Given the description of an element on the screen output the (x, y) to click on. 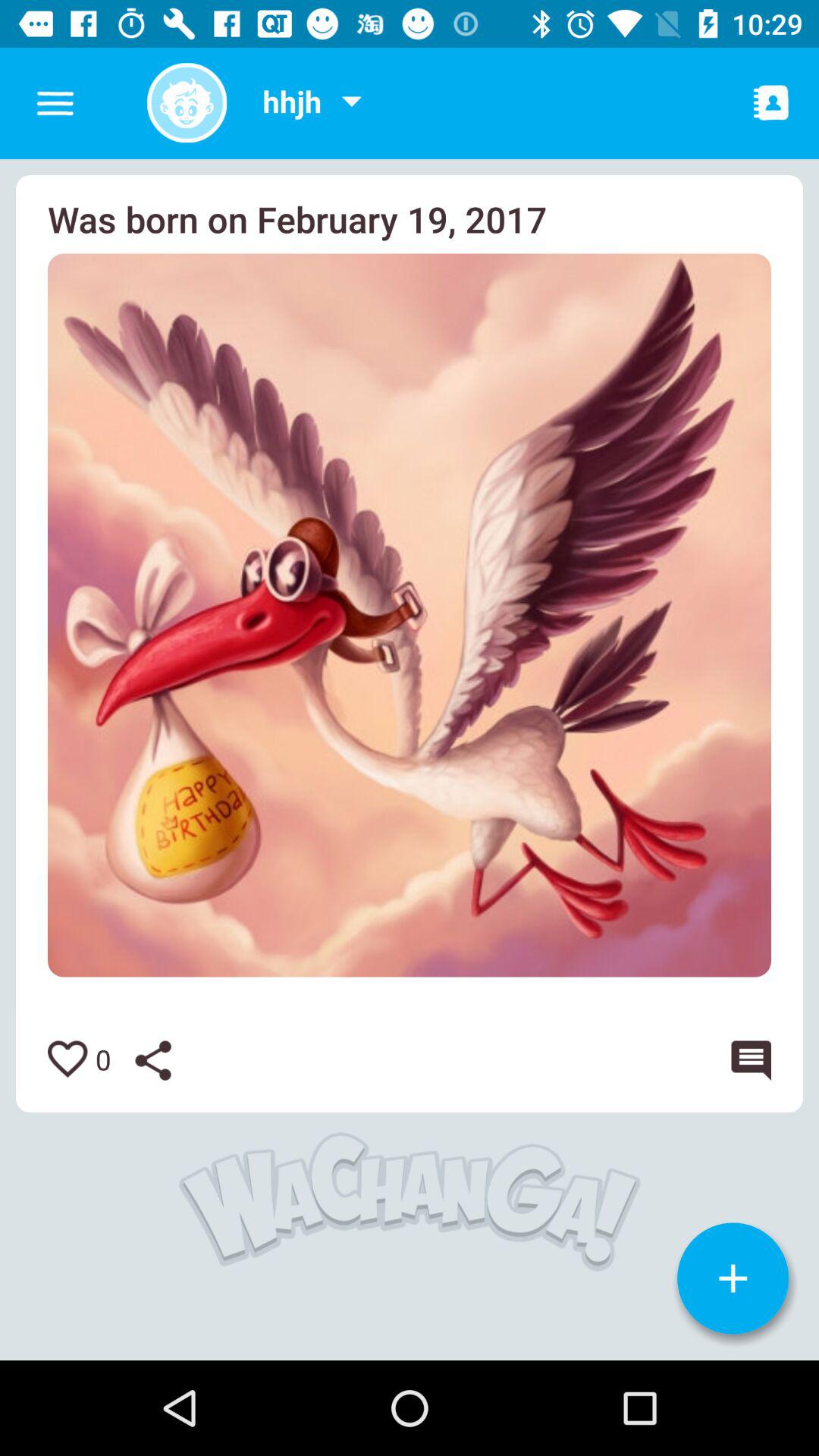
menu to view profile (351, 102)
